Given the description of an element on the screen output the (x, y) to click on. 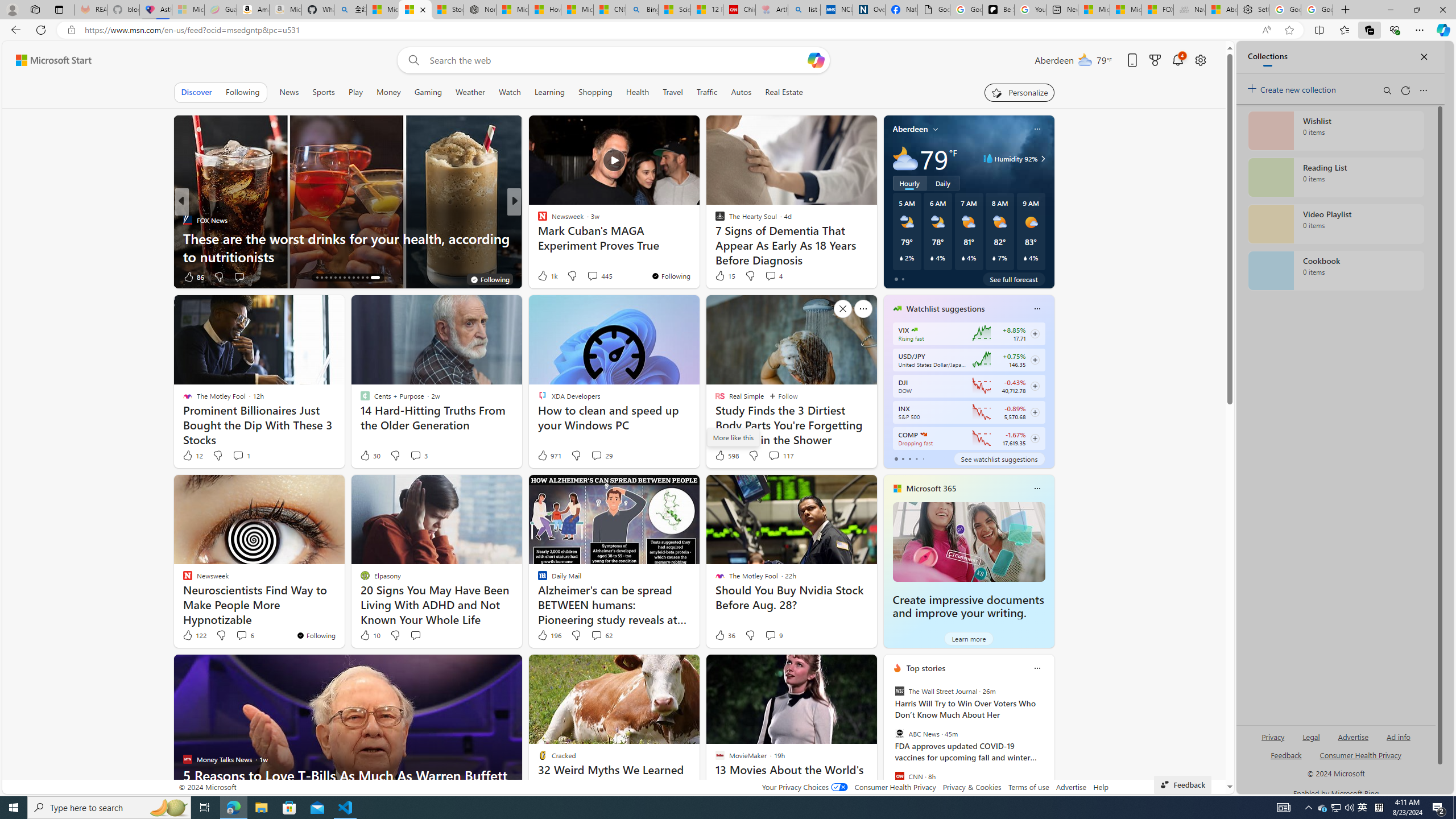
View comments 29 Comment (595, 455)
AutomationID: tab-16 (326, 277)
Autos (740, 92)
